Given the description of an element on the screen output the (x, y) to click on. 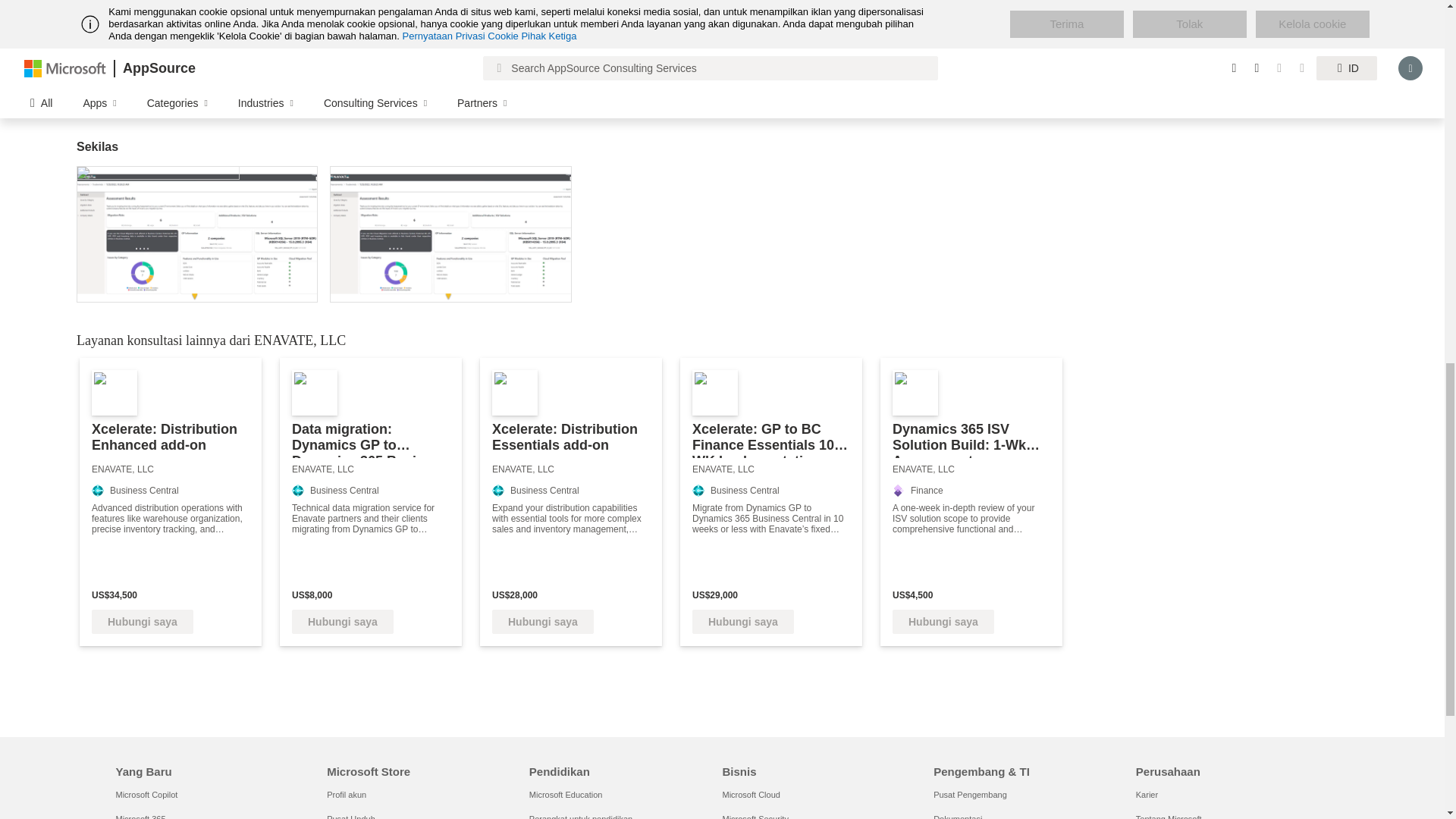
Hubungi saya (543, 621)
Hubungi saya (743, 621)
Hubungi saya (142, 621)
Microsoft Copilot (146, 794)
Hubungi saya (943, 621)
Hubungi saya (342, 621)
Microsoft 365 (140, 816)
